Given the description of an element on the screen output the (x, y) to click on. 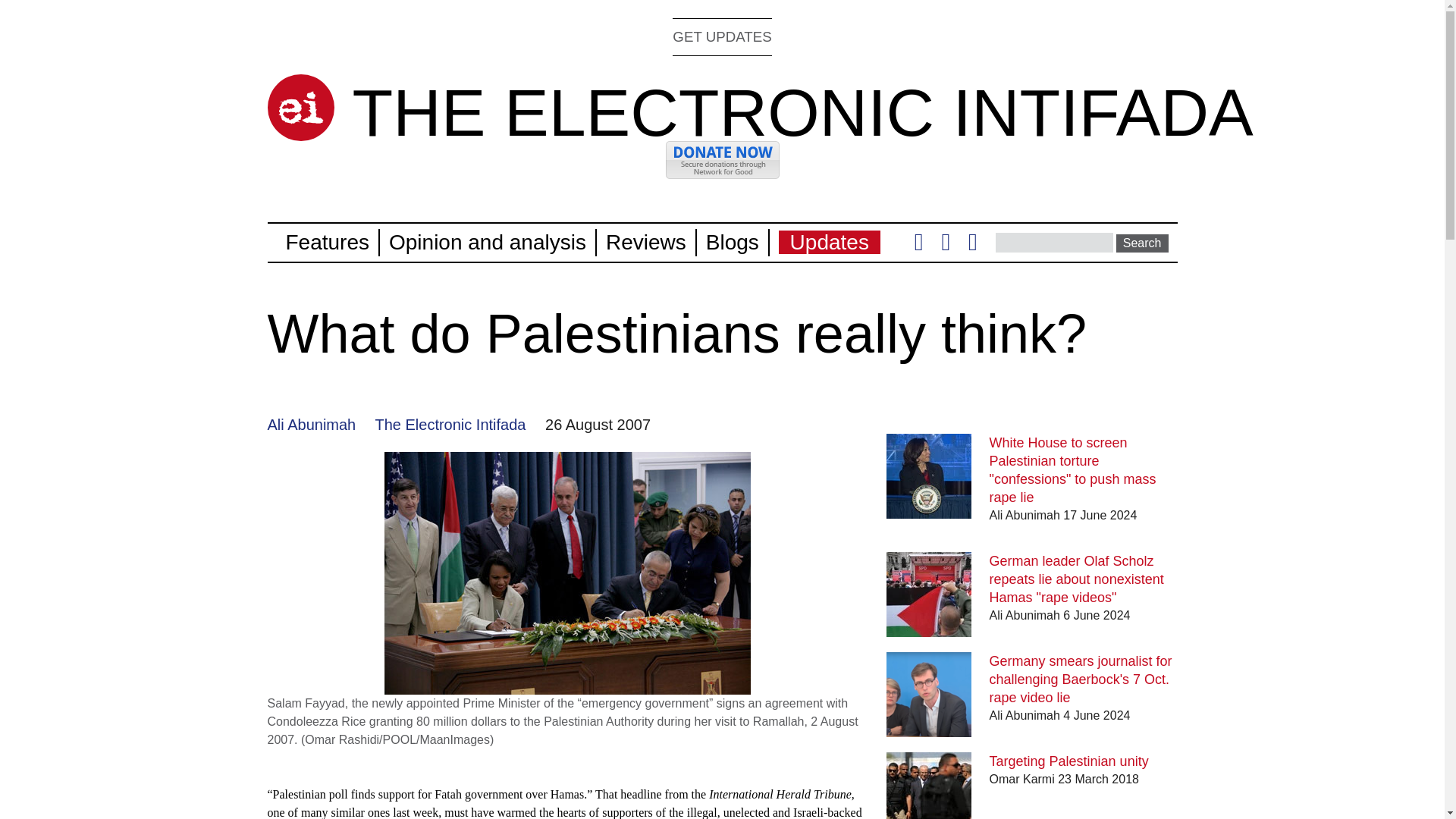
YouTube (972, 245)
Home (299, 107)
Home (802, 112)
Enter the terms you wish to search for. (1054, 242)
Search (1142, 243)
Opinion and analysis (487, 241)
Search (1142, 243)
Facebook (945, 245)
Reviews (645, 241)
Targeting Palestinian unity (1069, 761)
Updates (829, 241)
THE ELECTRONIC INTIFADA (802, 112)
The Electronic Intifada (449, 424)
Features (327, 241)
